Given the description of an element on the screen output the (x, y) to click on. 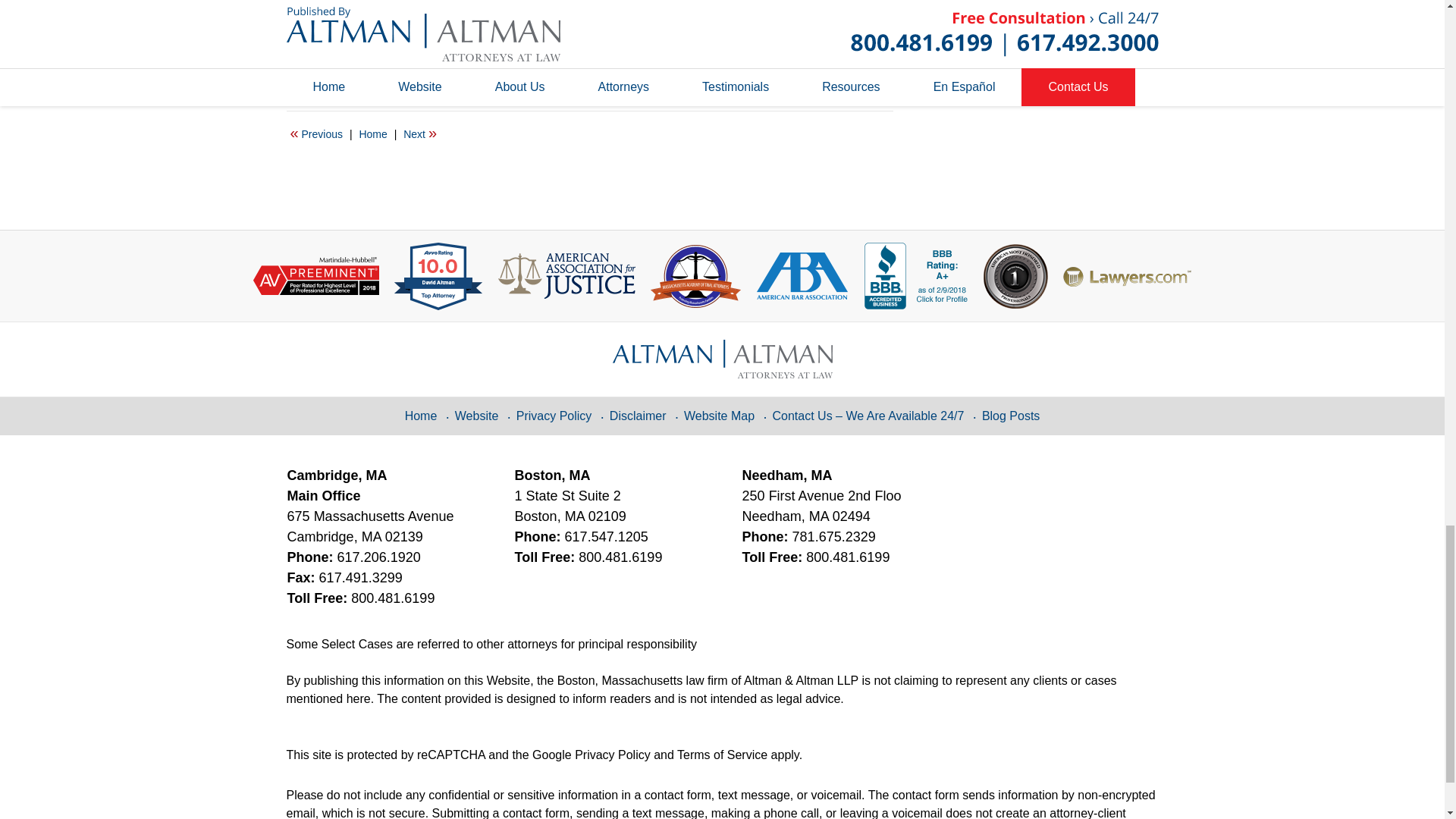
View all posts in Criminal Law (355, 68)
Criminal Law (355, 68)
Everett Man Charged in Halloween Beating (316, 134)
Drug Offenses (430, 68)
First-Degree Murder Verdict Reached in Chandra Levy Slaying (419, 134)
Home (372, 134)
View all posts in Drug Offenses (430, 68)
